Given the description of an element on the screen output the (x, y) to click on. 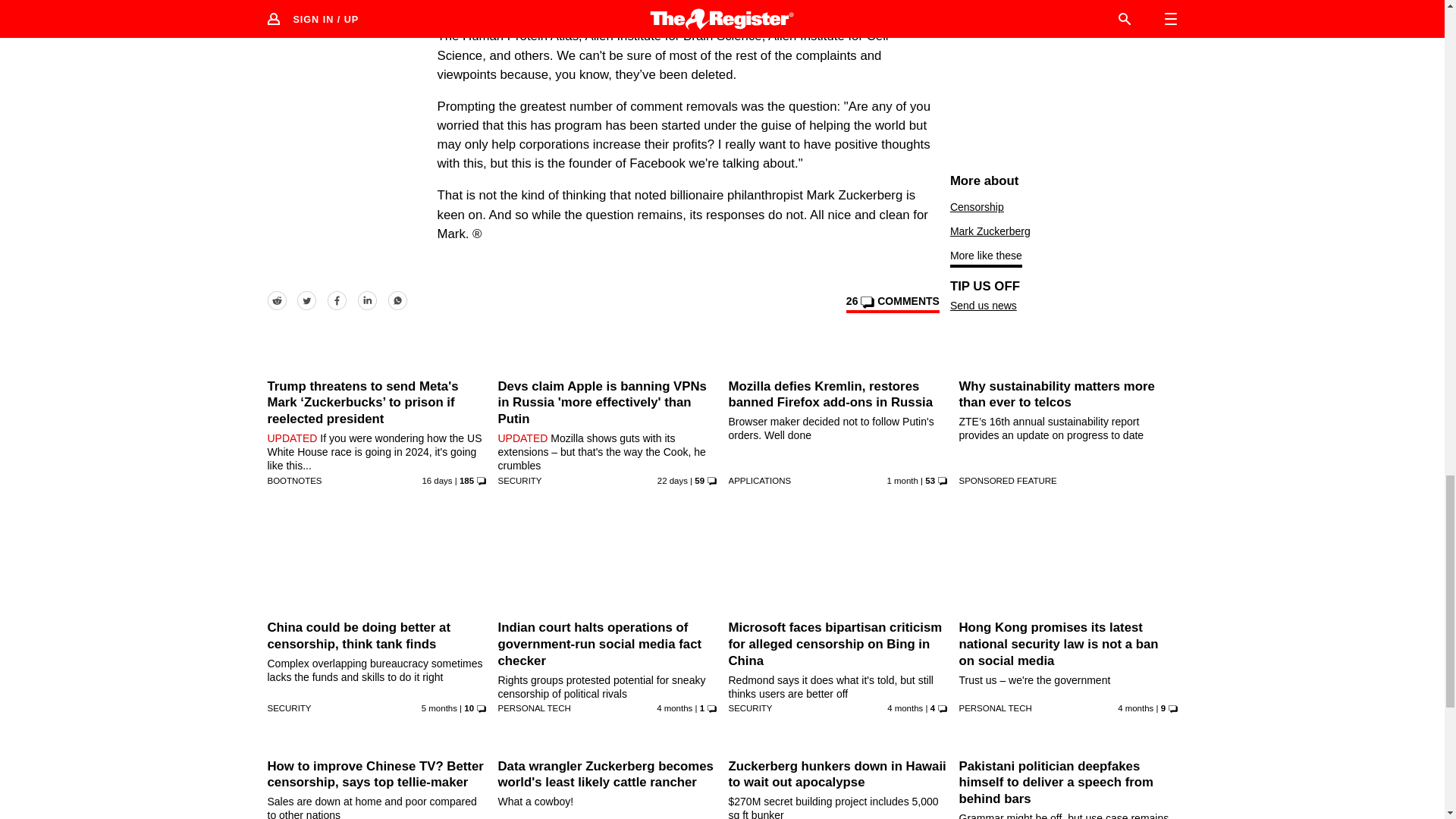
21 Mar 2024 4:1 (1135, 707)
22 Mar 2024 2:58 (674, 707)
14 Jun 2024 15:35 (901, 480)
View comments on this article (892, 303)
21 Feb 2024 4:31 (439, 707)
5 Jul 2024 21:27 (672, 480)
21 Mar 2024 21:25 (904, 707)
11 Jul 2024 19:43 (436, 480)
